Given the description of an element on the screen output the (x, y) to click on. 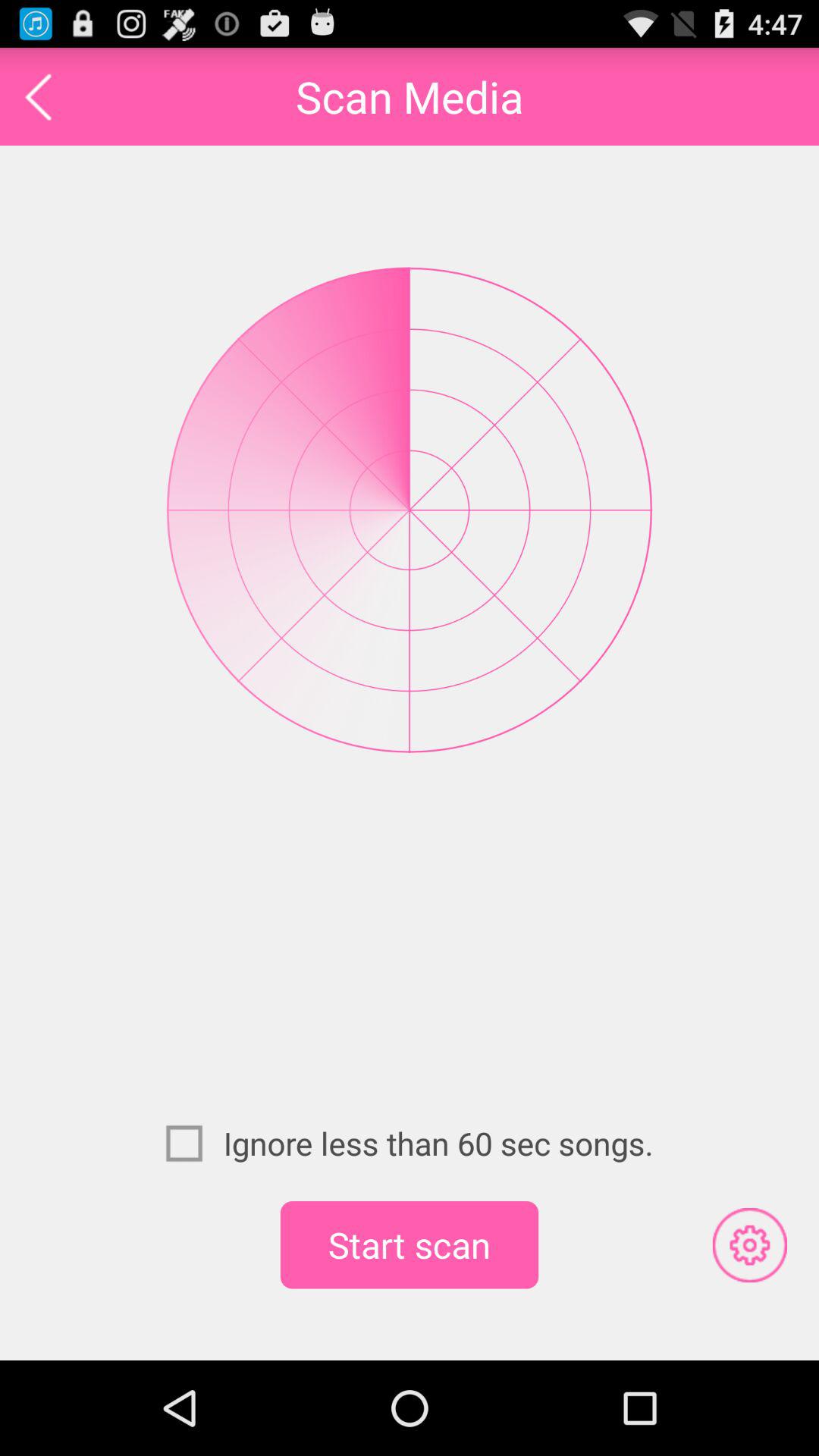
click the icon to the right of start scan app (749, 1244)
